Given the description of an element on the screen output the (x, y) to click on. 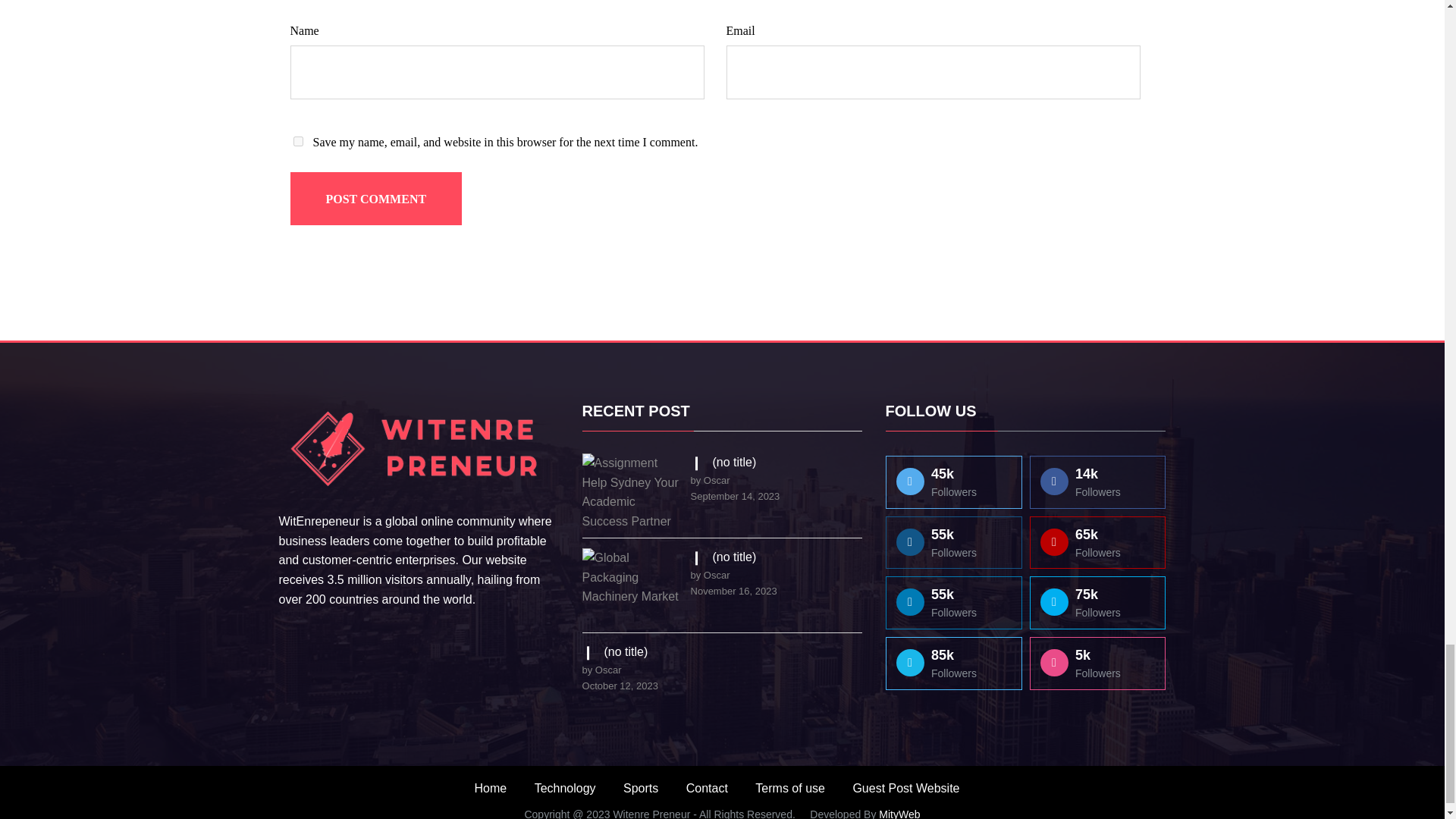
yes (297, 141)
Post Comment (375, 198)
